Given the description of an element on the screen output the (x, y) to click on. 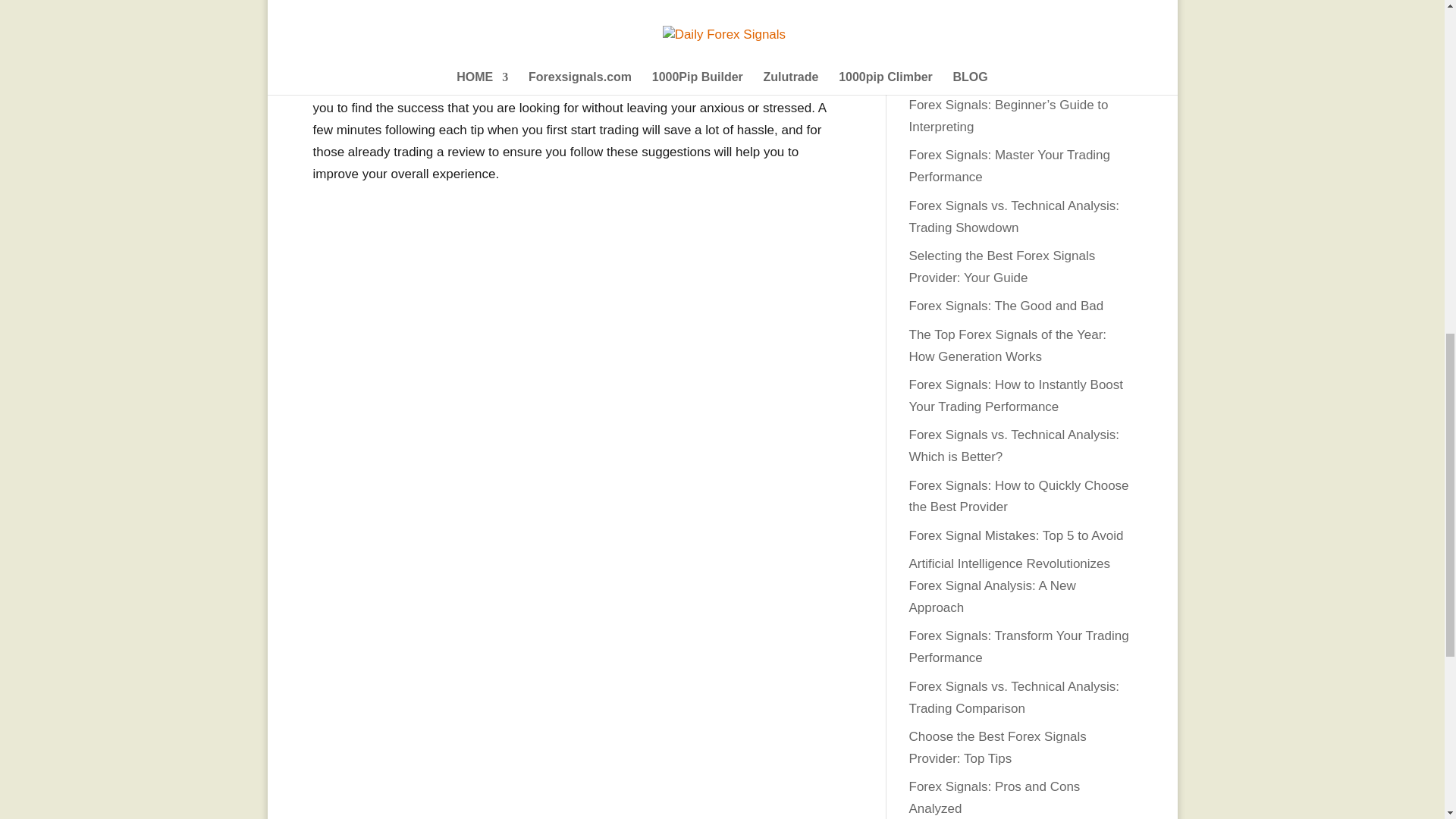
Forex Signals: Transform Your Trading Performance (1018, 646)
Selecting the Best Forex Signals Provider: Your Guide (1001, 266)
Forex Signals: Pros and Cons Analyzed (994, 797)
Forex Signals: Master Your Trading Performance (1008, 166)
Forex Signals: The Good and Bad (1005, 305)
Forex Signals vs. Technical Analysis: Trading Comparison (1013, 697)
Forex Signals vs. Technical Analysis: Trading Showdown (1013, 217)
Forex Signal Mistakes: 5 Costly Errors to Dodge (1017, 65)
